Given the description of an element on the screen output the (x, y) to click on. 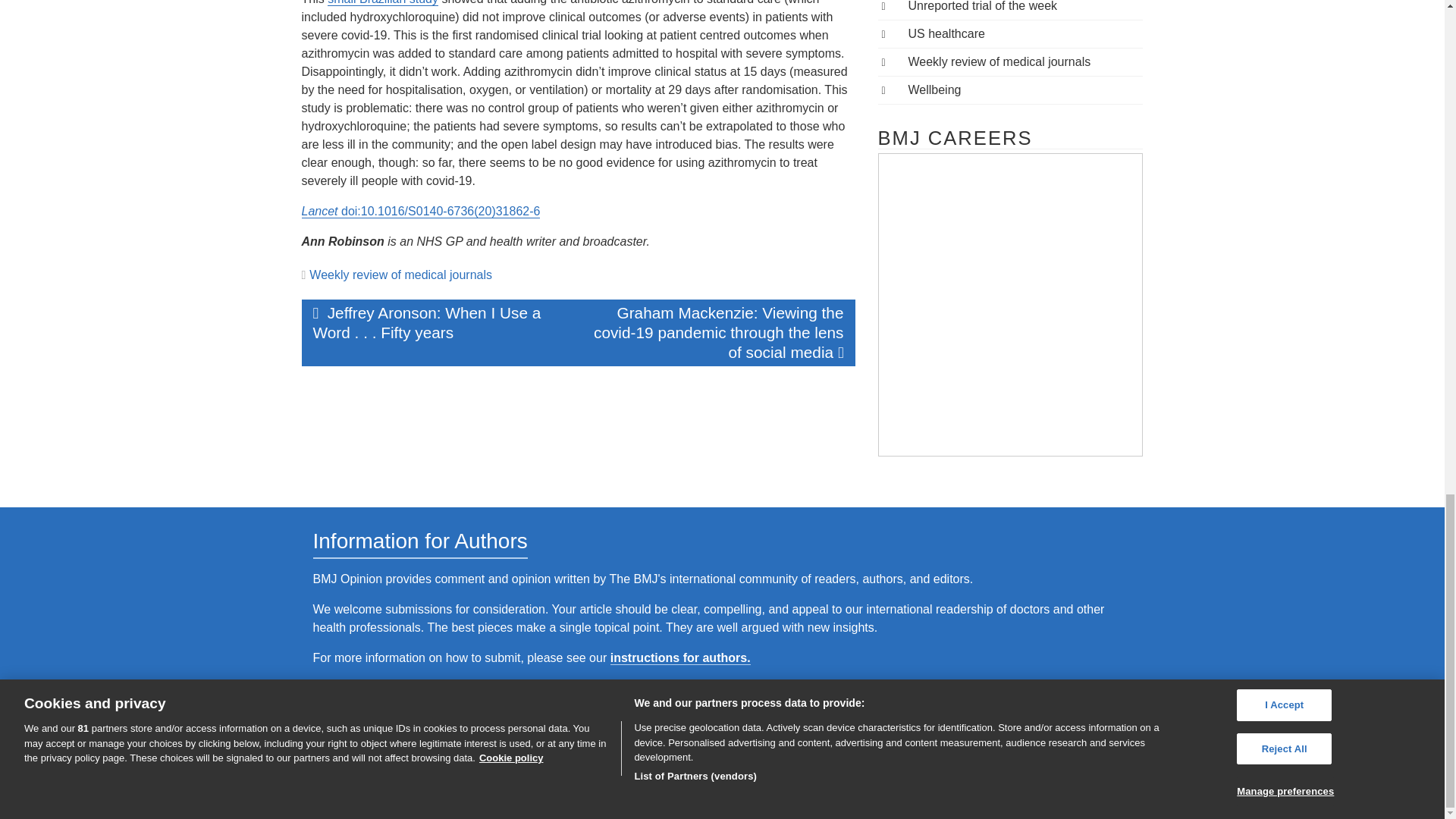
small Brazilian study (382, 2)
 Jeffrey Aronson: When I Use a Word . . . Fifty years (439, 322)
Home page (720, 733)
Weekly review of medical journals (400, 274)
